Given the description of an element on the screen output the (x, y) to click on. 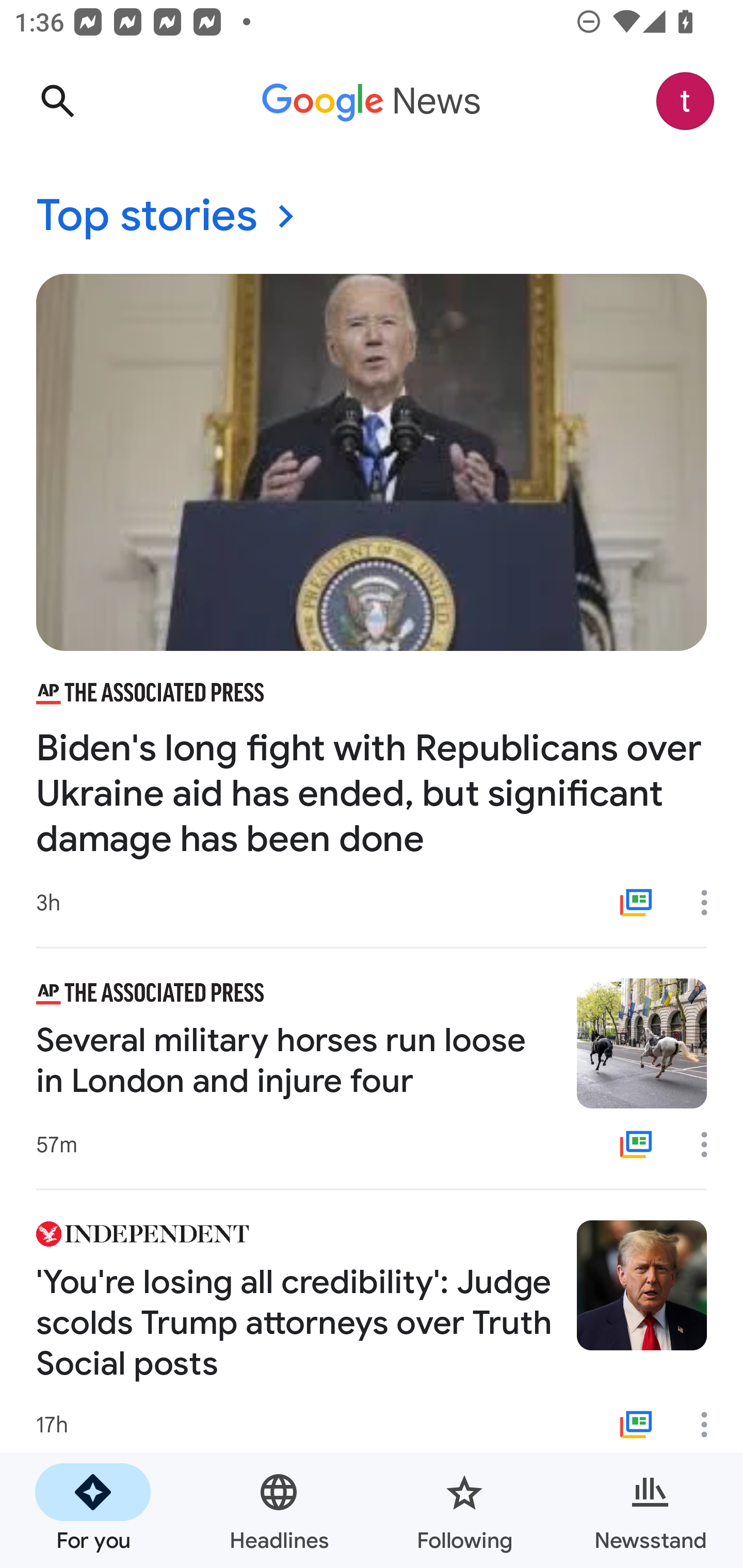
Search (57, 100)
Top stories (371, 216)
More options (711, 902)
More options (711, 1144)
More options (711, 1424)
For you (92, 1509)
Headlines (278, 1509)
Following (464, 1509)
Newsstand (650, 1509)
